Given the description of an element on the screen output the (x, y) to click on. 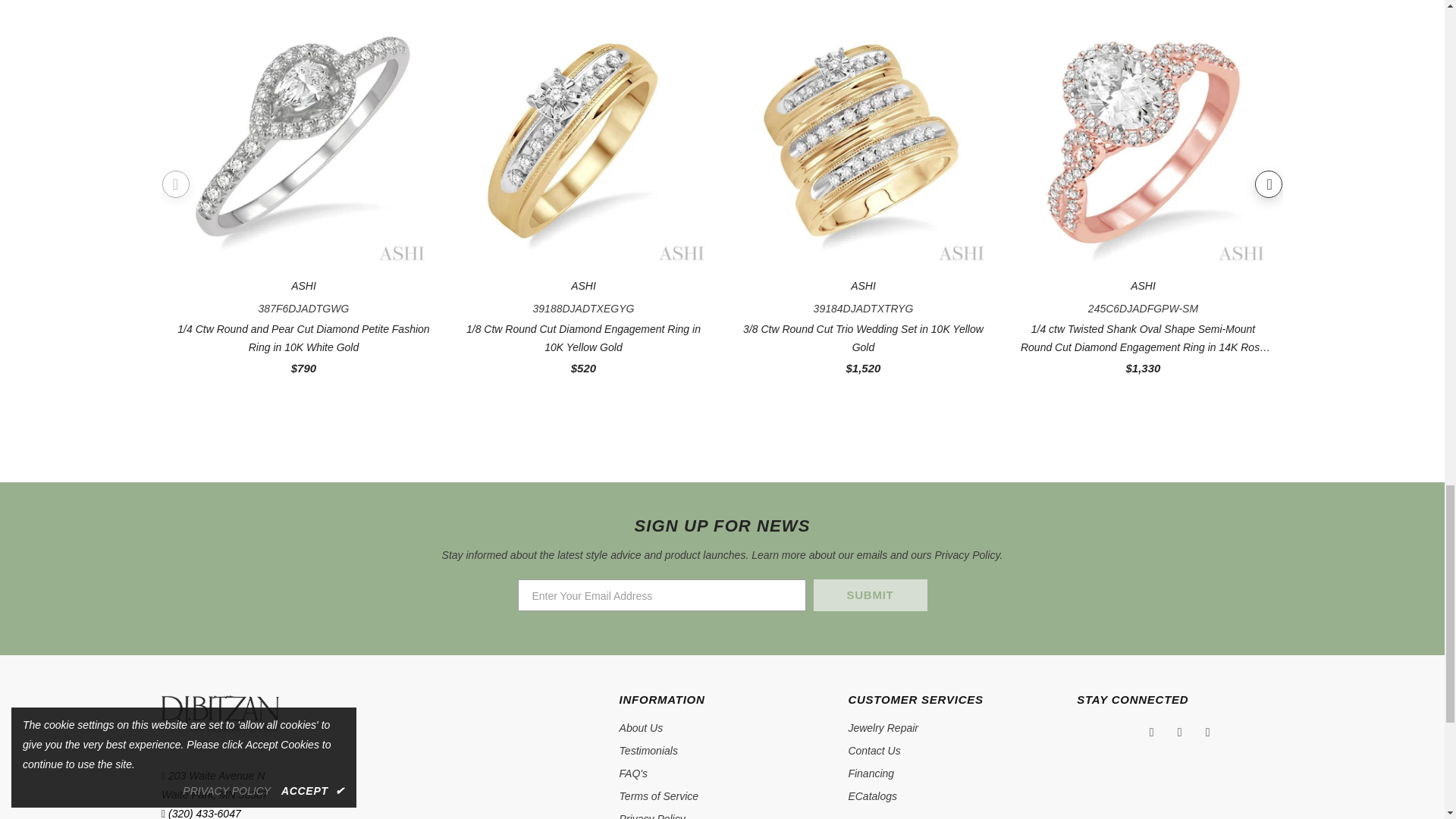
Submit (869, 594)
